Given the description of an element on the screen output the (x, y) to click on. 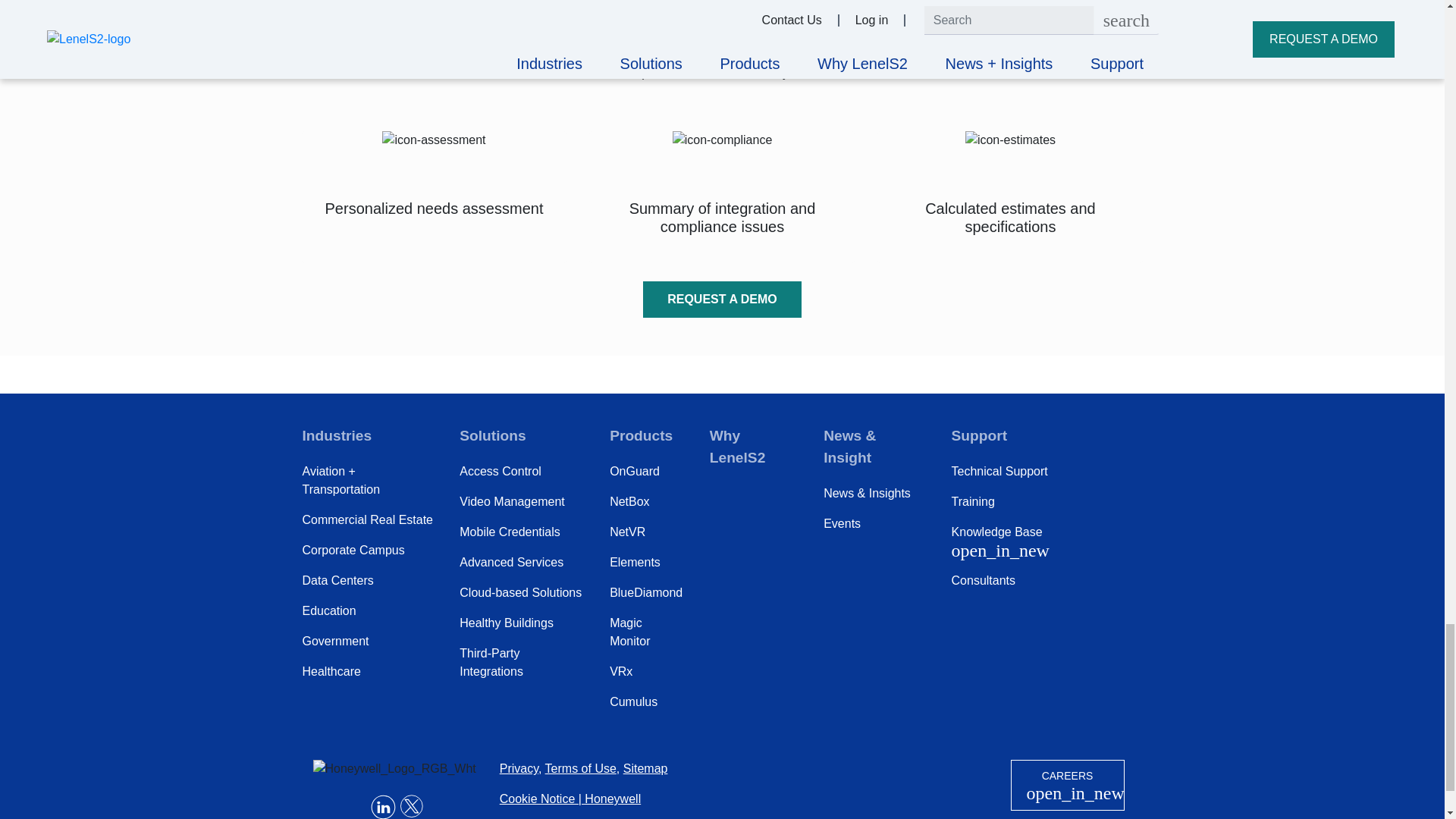
Terms of use (579, 768)
Privacy notice (518, 768)
Sitemap (645, 768)
